Given the description of an element on the screen output the (x, y) to click on. 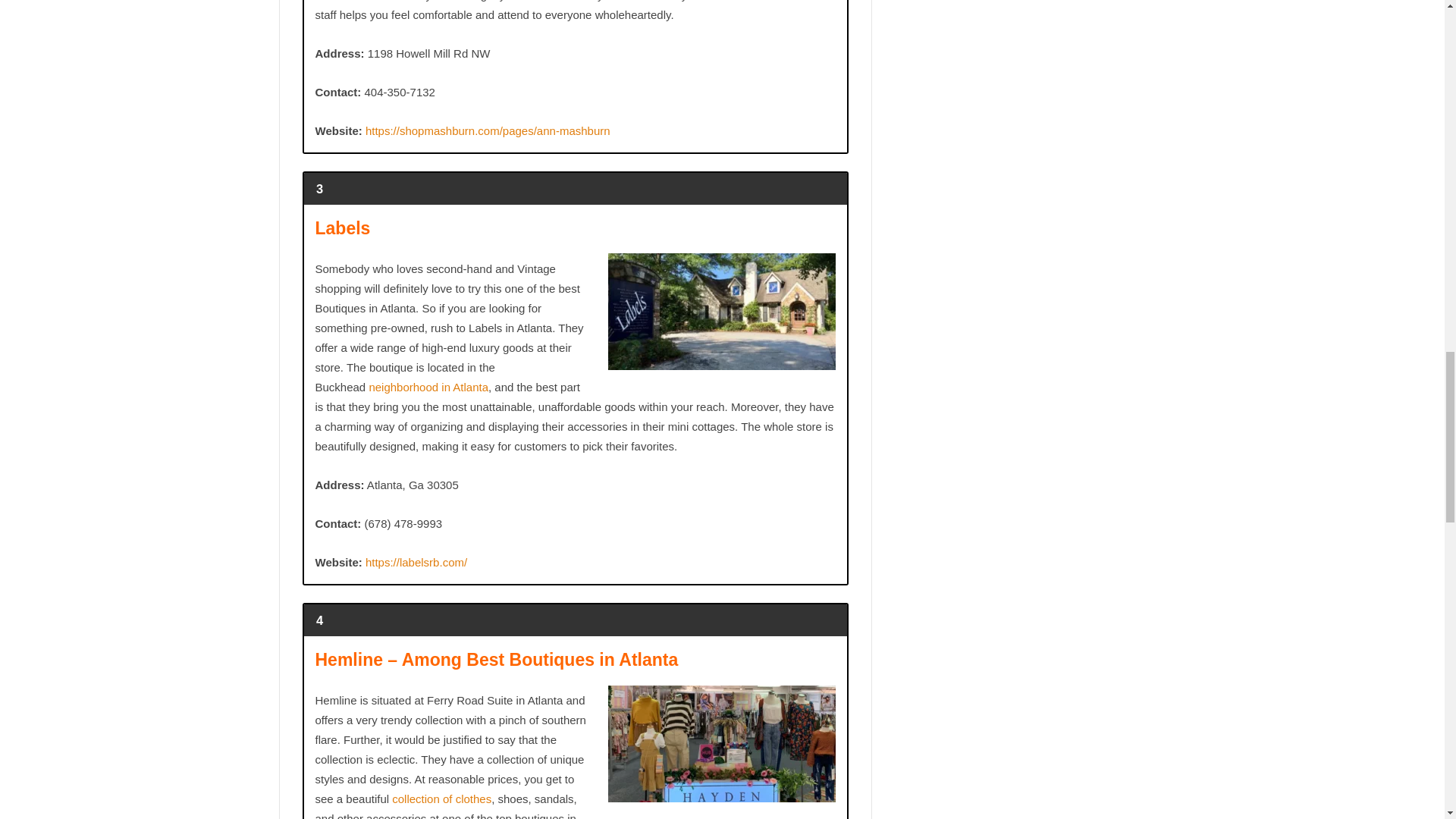
neighborhood in Atlanta (427, 386)
collection of clothes (441, 798)
